Given the description of an element on the screen output the (x, y) to click on. 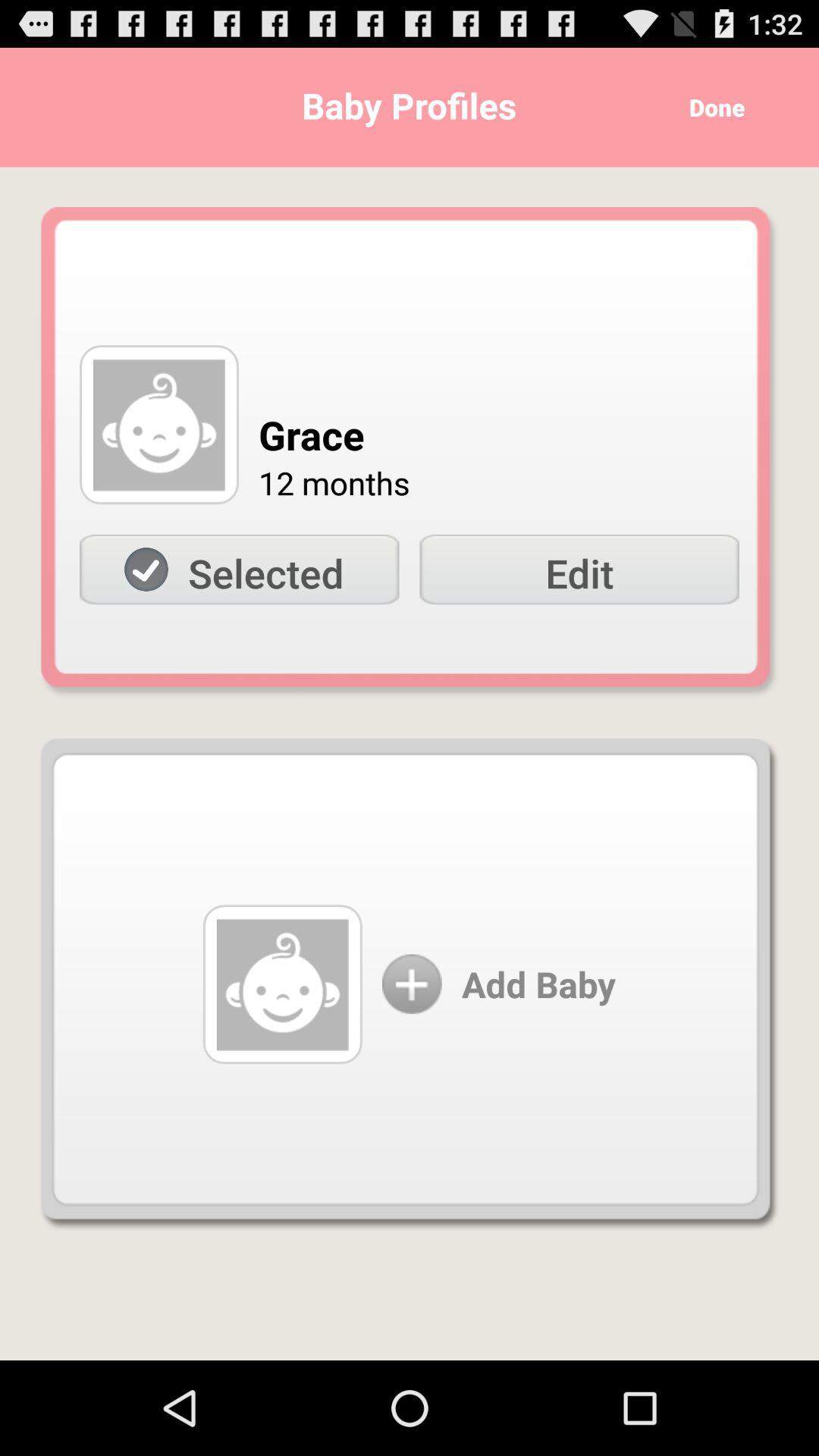
select edit (579, 569)
